Given the description of an element on the screen output the (x, y) to click on. 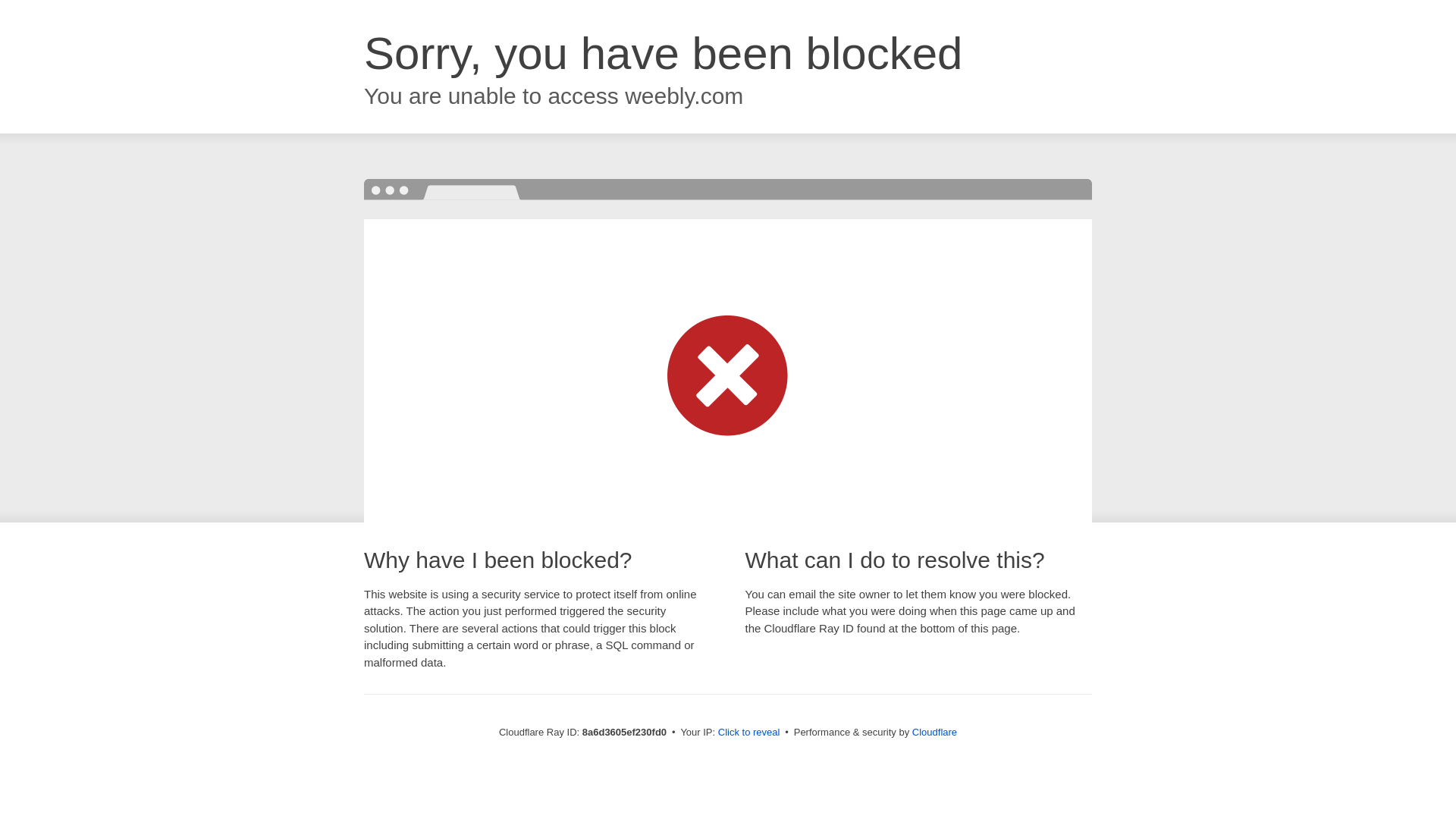
Click to reveal (748, 732)
Cloudflare (934, 731)
